Given the description of an element on the screen output the (x, y) to click on. 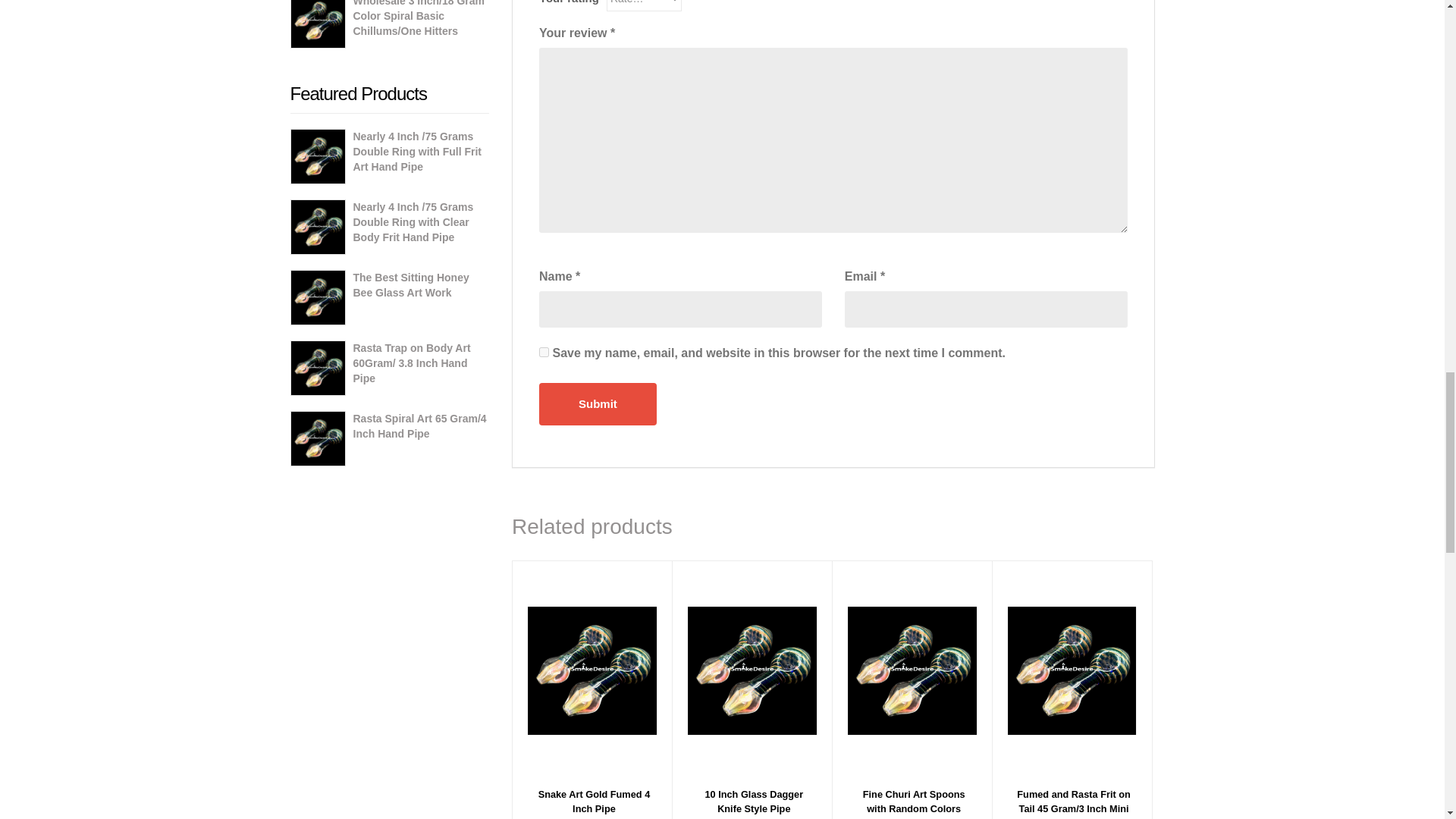
yes (543, 352)
Submit (597, 404)
